Given the description of an element on the screen output the (x, y) to click on. 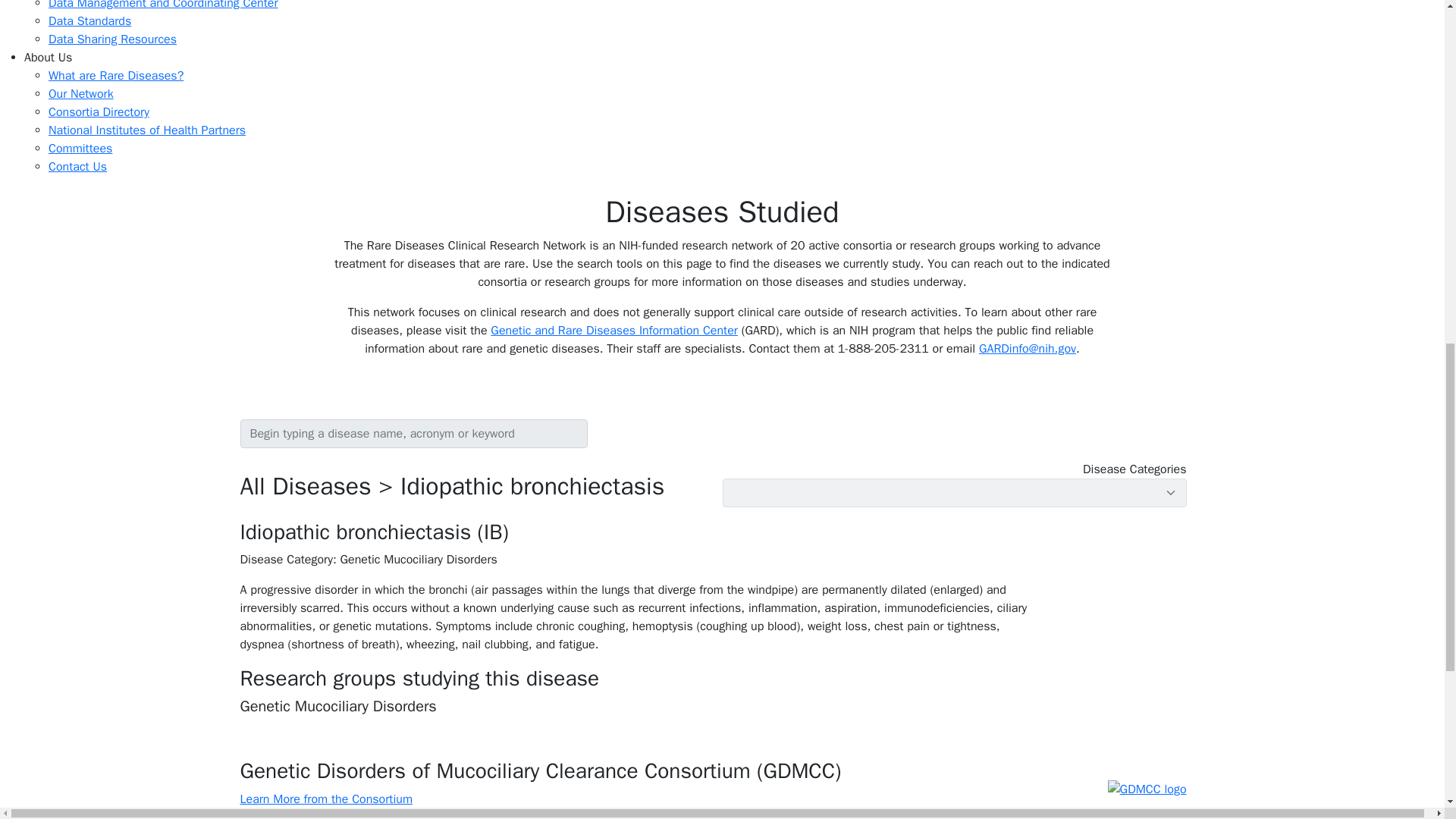
Search Button (596, 429)
What are Rare Diseases? (115, 75)
